Given the description of an element on the screen output the (x, y) to click on. 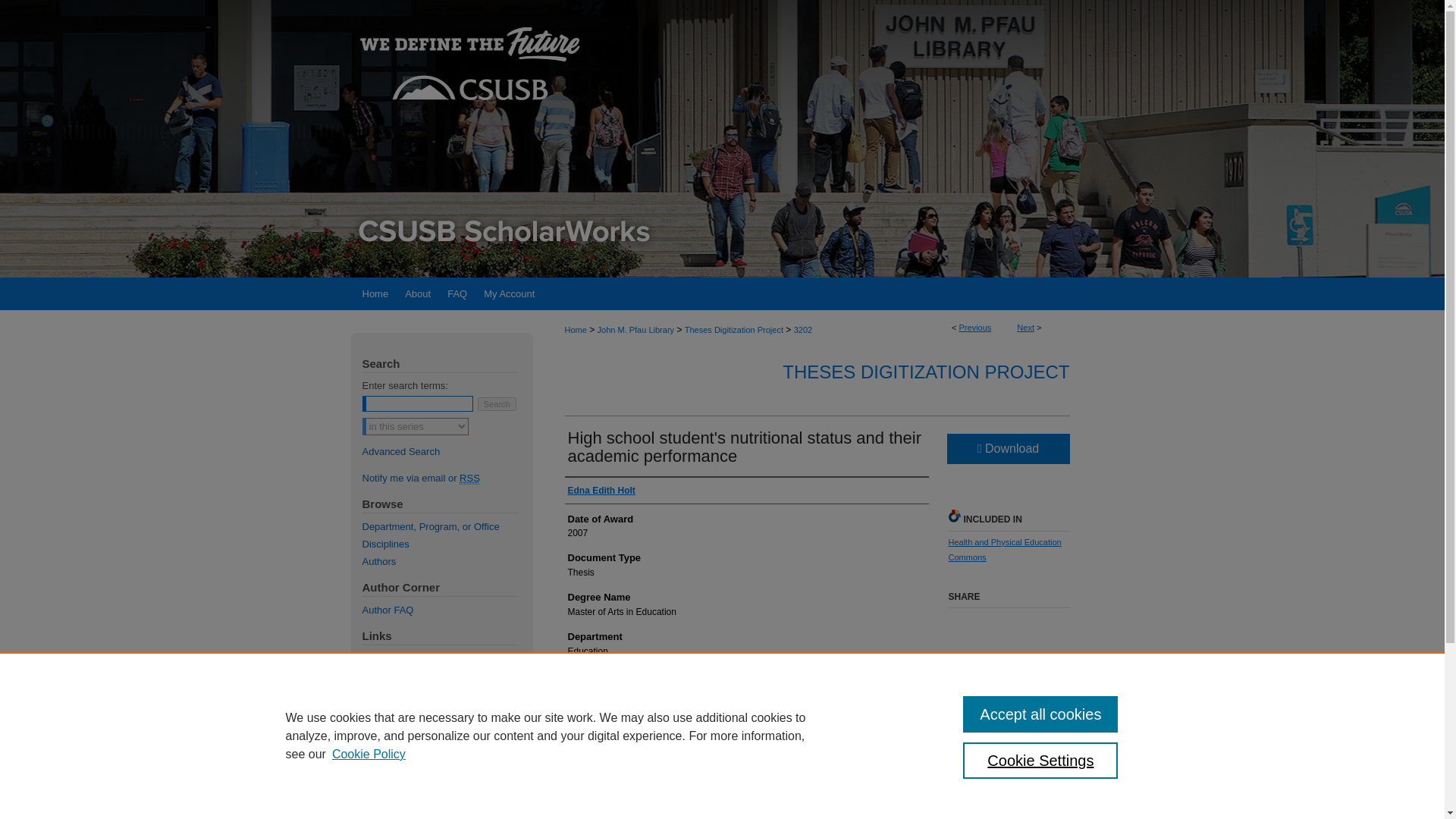
FAQ (457, 293)
Notify me via email or RSS (447, 478)
Health and Physical Education Commons (1004, 549)
Authors (447, 561)
Disciplines (447, 543)
Browse by Disciplines (447, 543)
Digitization Project Request Form (447, 658)
FAQ (457, 293)
Next (1024, 327)
Health and Physical Education Commons (1004, 549)
Really Simple Syndication (470, 478)
Search (496, 404)
About (417, 293)
Home (373, 293)
Home (373, 293)
